Given the description of an element on the screen output the (x, y) to click on. 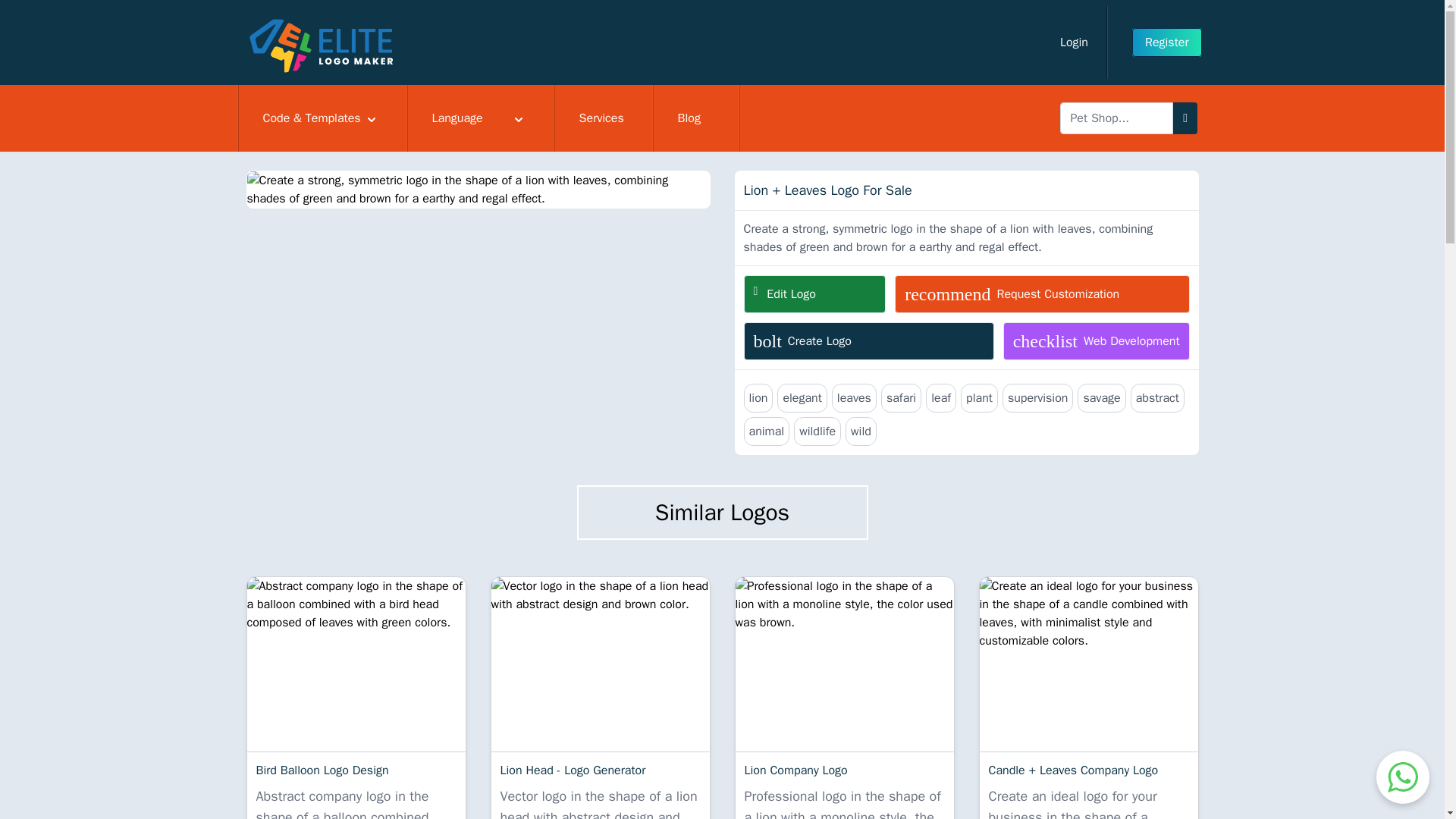
leaves (853, 398)
Edit Logo (813, 293)
supervision (1038, 398)
leaf (941, 398)
Blog (695, 118)
abstract (1096, 341)
Login (1158, 398)
Lion Head - Logo Generator (1074, 42)
Register (601, 664)
Lion Company Logo (1167, 41)
plant (844, 664)
animal (978, 398)
